Given the description of an element on the screen output the (x, y) to click on. 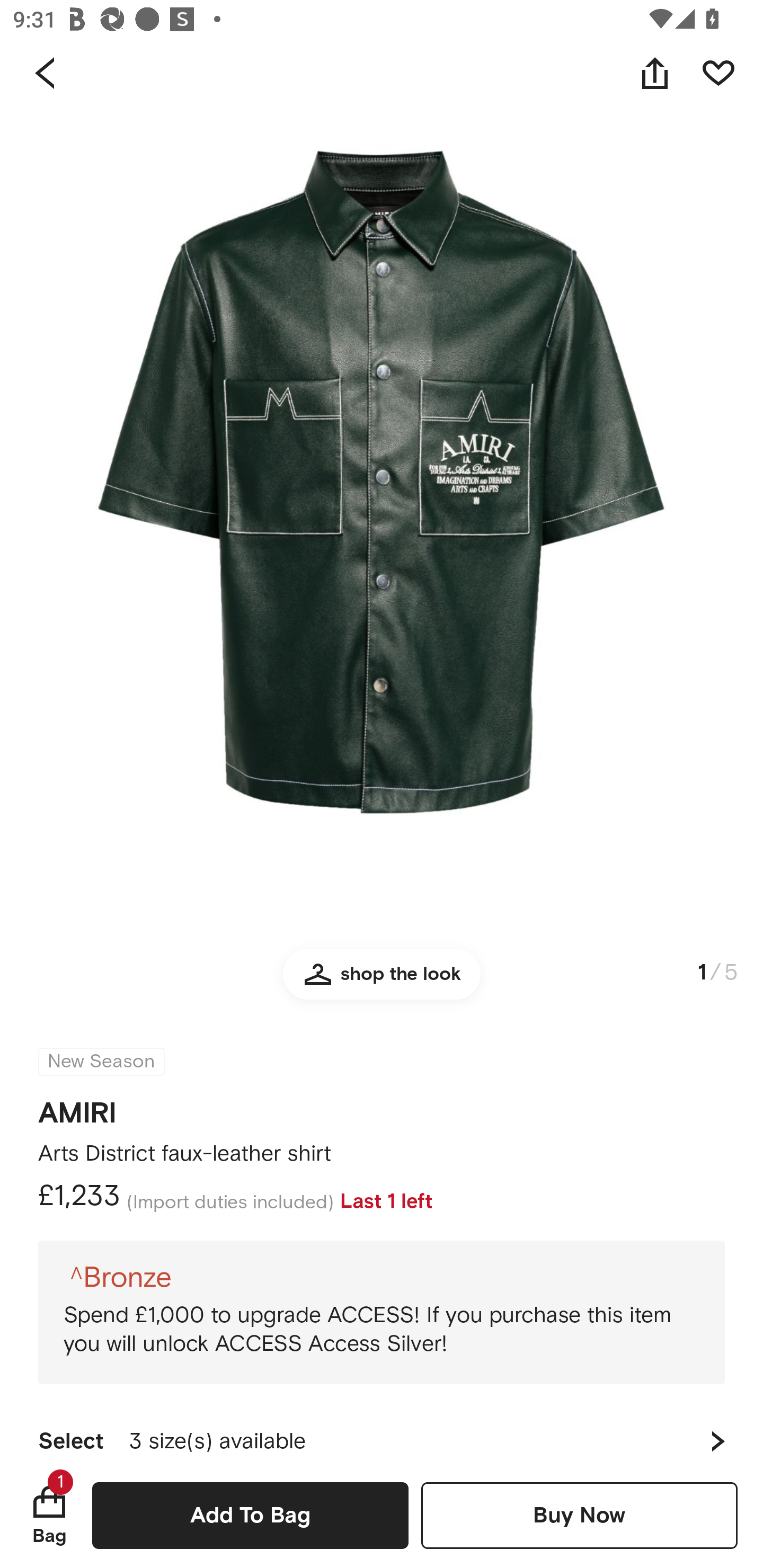
shop the look (381, 982)
AMIRI (77, 1107)
Select 3 size(s) available (381, 1432)
Bag 1 (49, 1515)
Add To Bag (250, 1515)
Buy Now (579, 1515)
